Given the description of an element on the screen output the (x, y) to click on. 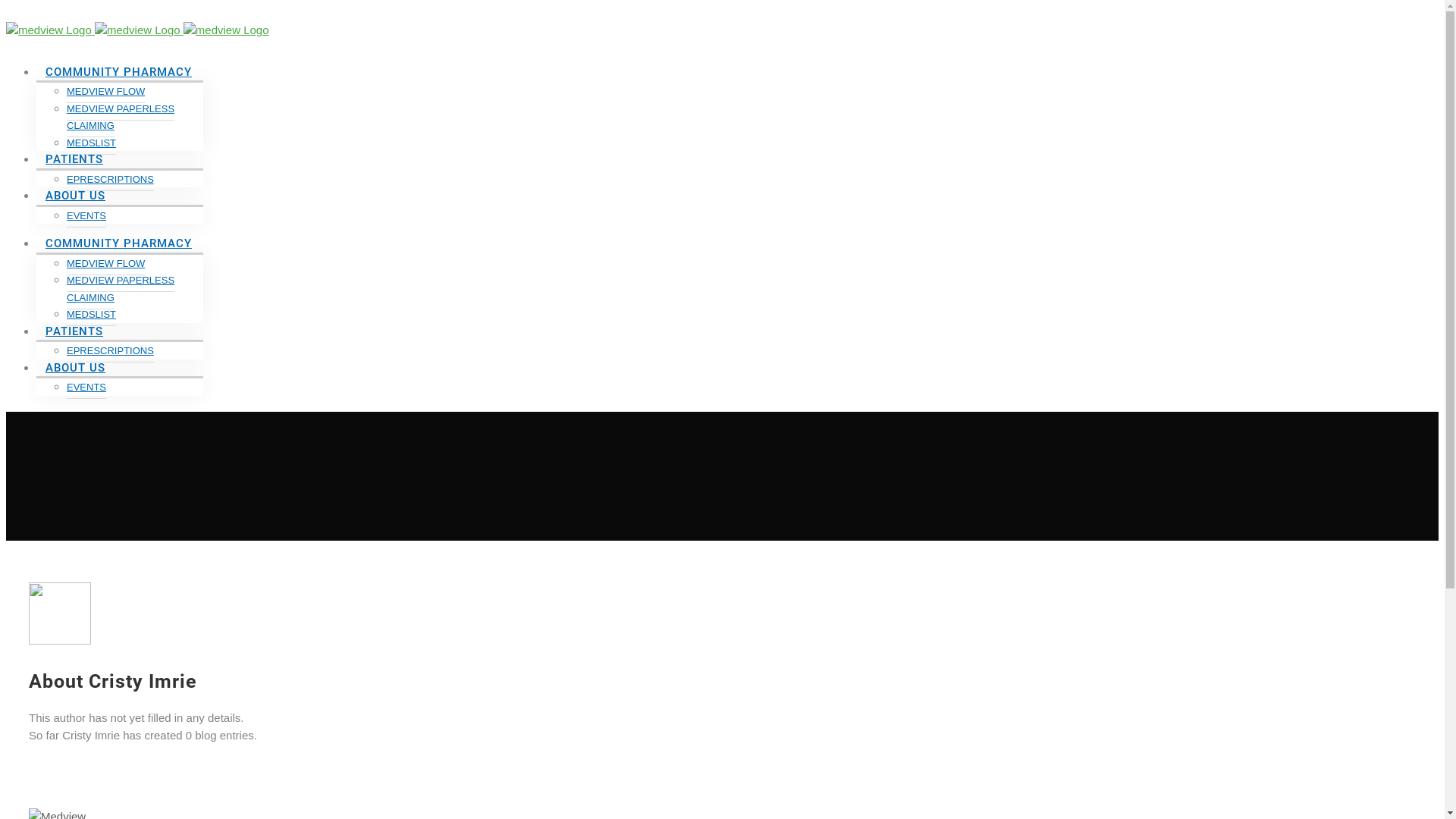
EPRESCRIPTIONS Element type: text (109, 179)
MEDVIEW FLOW Element type: text (105, 91)
PATIENTS Element type: text (74, 330)
MEDSLIST Element type: text (91, 142)
PATIENTS Element type: text (74, 158)
MEDSLIST Element type: text (91, 314)
MEDVIEW FLOW Element type: text (105, 262)
ABOUT US Element type: text (75, 366)
ABOUT US Element type: text (75, 195)
EVENTS Element type: text (86, 215)
COMMUNITY PHARMACY Element type: text (118, 243)
COMMUNITY PHARMACY Element type: text (118, 70)
MEDVIEW PAPERLESS CLAIMING Element type: text (120, 289)
EVENTS Element type: text (86, 387)
EPRESCRIPTIONS Element type: text (109, 350)
MEDVIEW PAPERLESS CLAIMING Element type: text (120, 117)
